Given the description of an element on the screen output the (x, y) to click on. 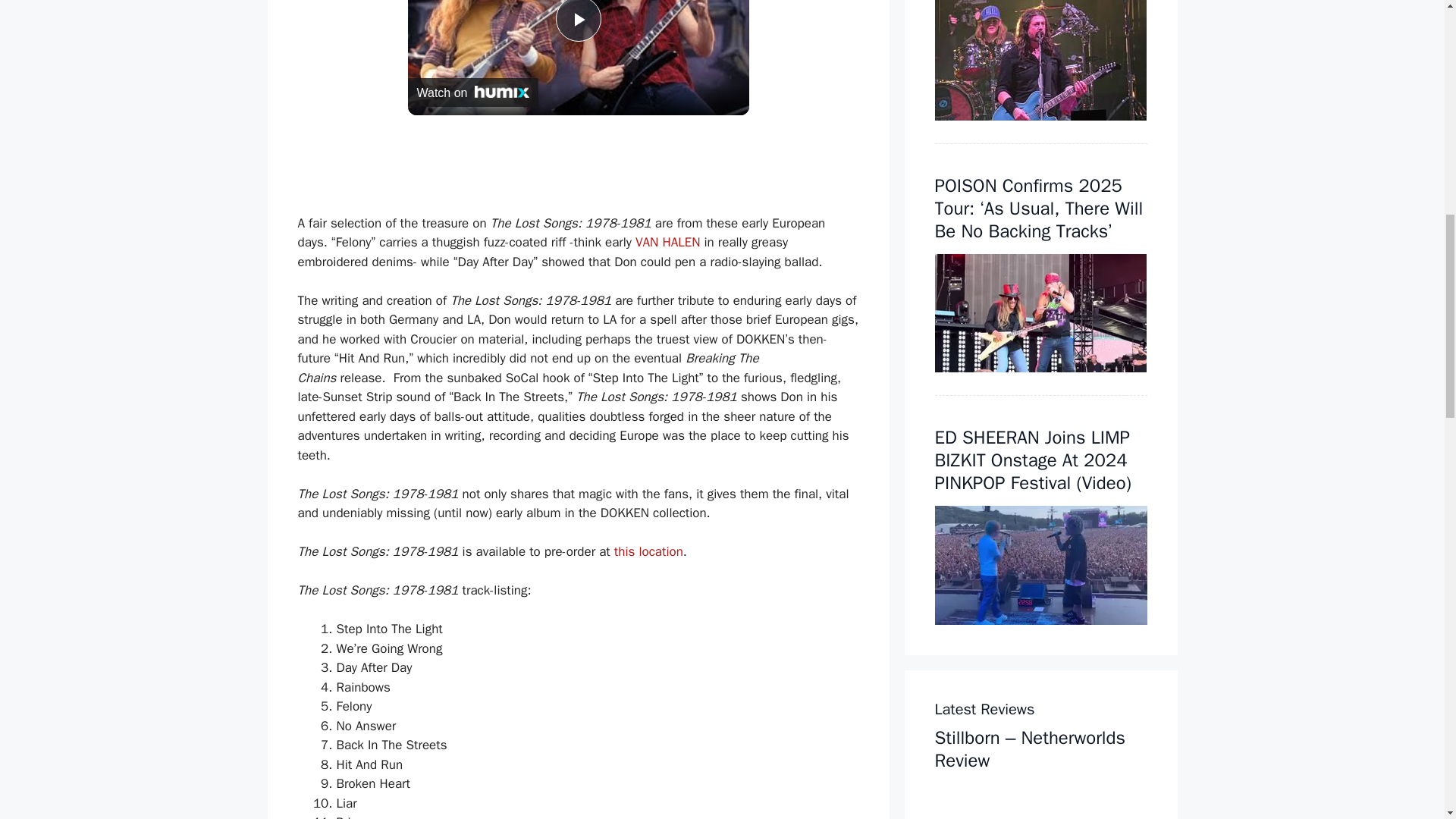
Watch on (472, 92)
Play Video (576, 20)
this location (648, 551)
Play Video (576, 20)
VAN HALEN (667, 242)
